Given the description of an element on the screen output the (x, y) to click on. 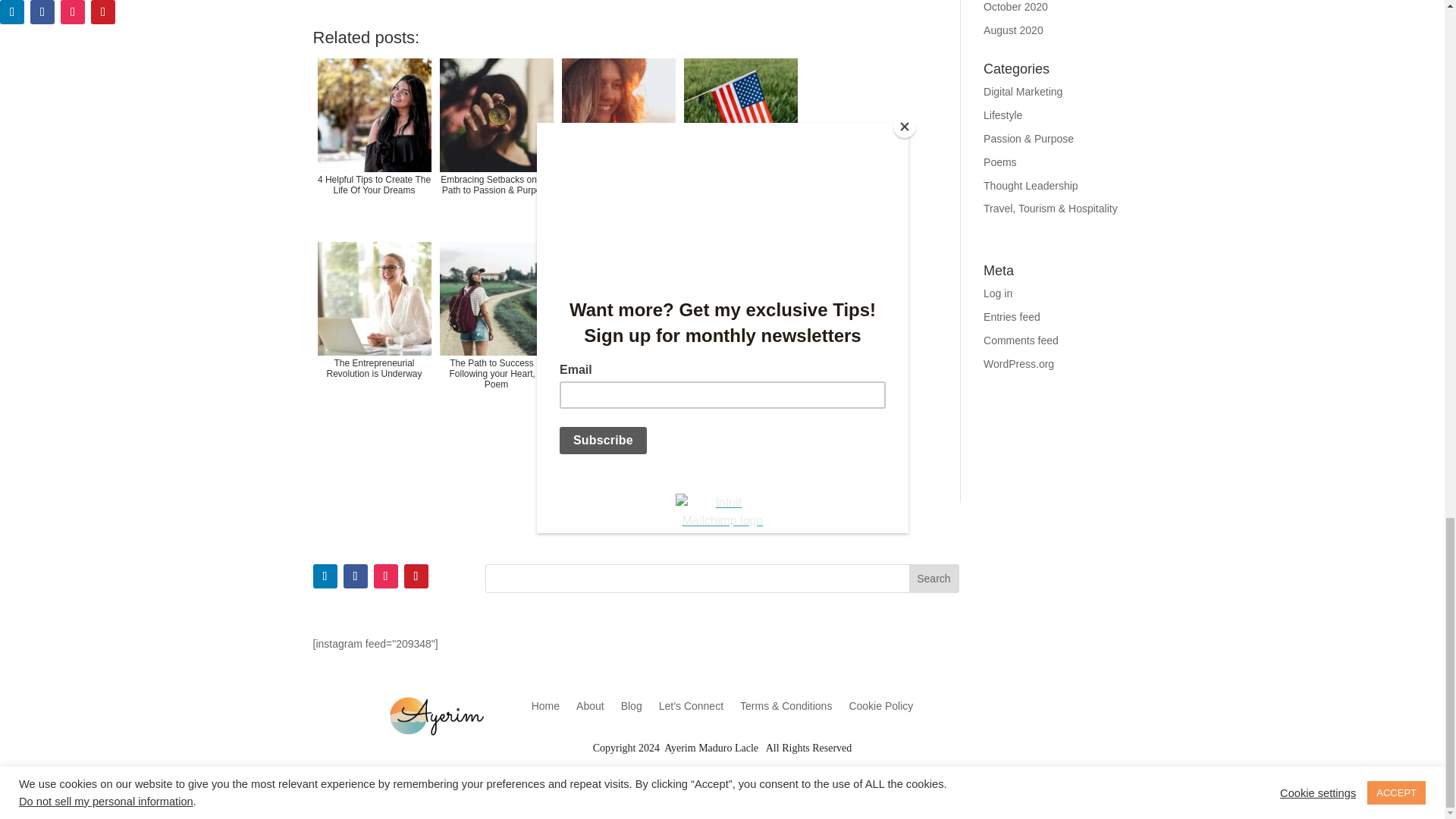
Follow on LinkedIn (324, 576)
Follow on Instagram (384, 576)
Search (933, 578)
Follow on Pinterest (415, 576)
Follow on Facebook (354, 576)
Search (933, 578)
